Given the description of an element on the screen output the (x, y) to click on. 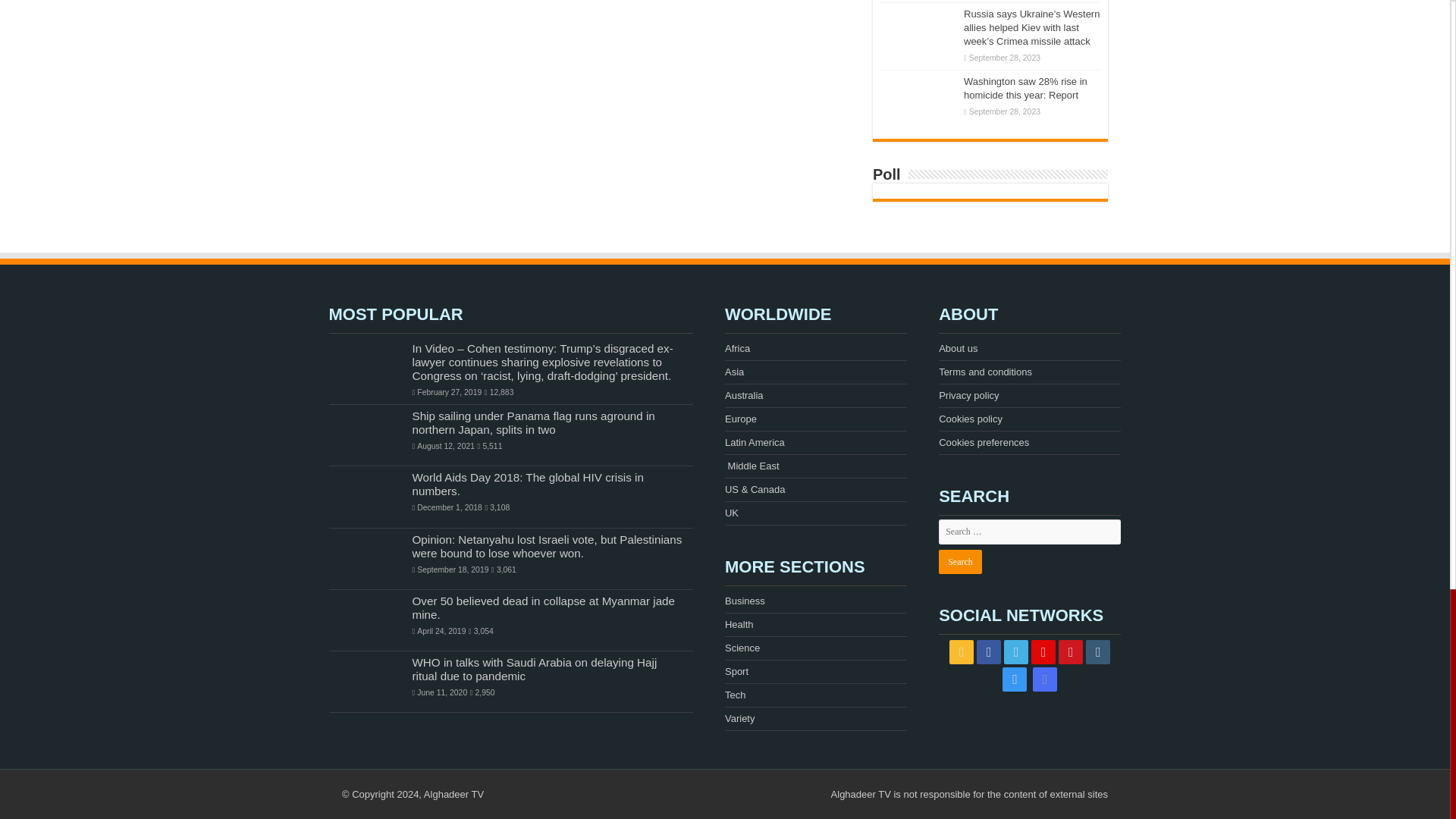
Search (960, 561)
Search (960, 561)
